Given the description of an element on the screen output the (x, y) to click on. 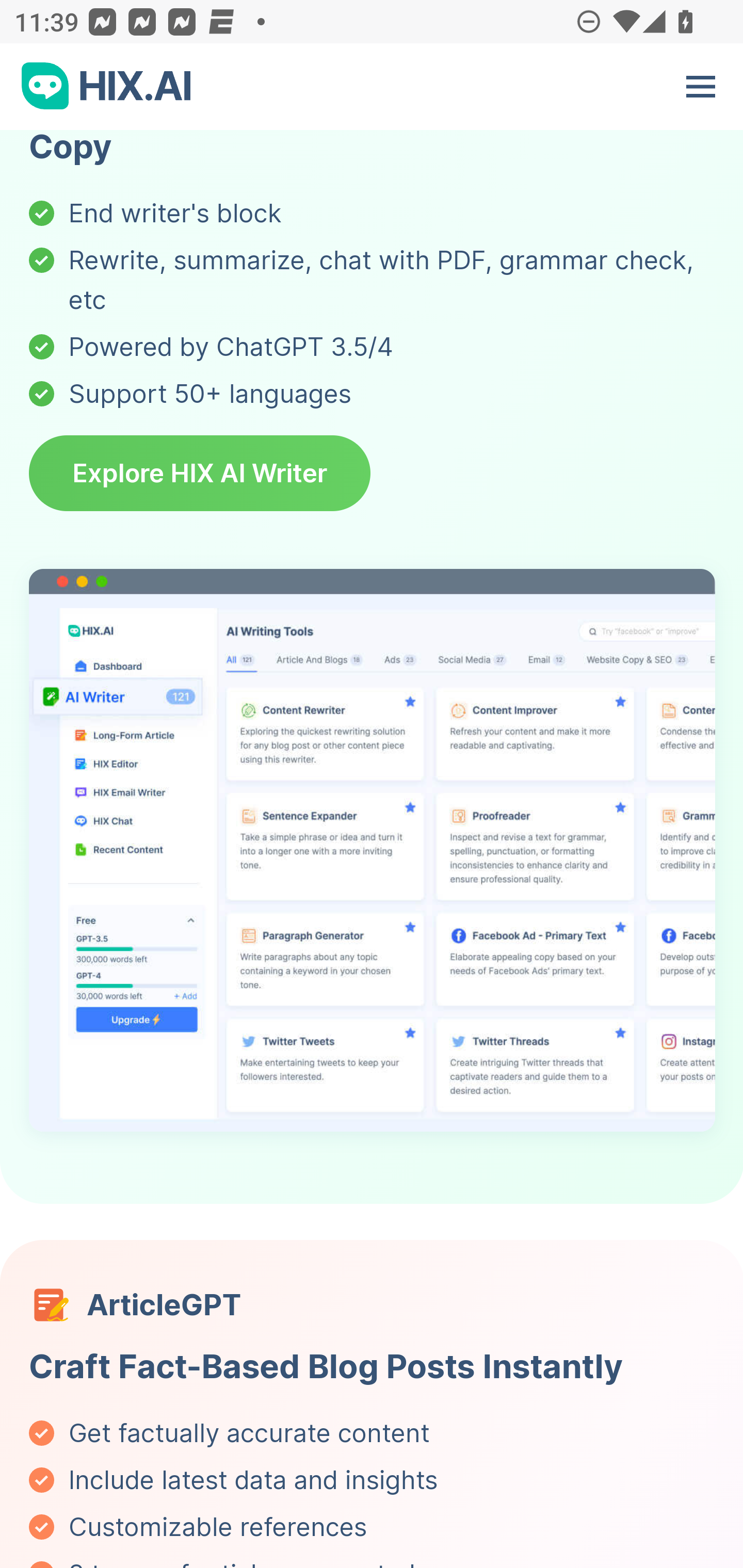
hix (107, 87)
Explore HIX AI Writer (200, 475)
